Given the description of an element on the screen output the (x, y) to click on. 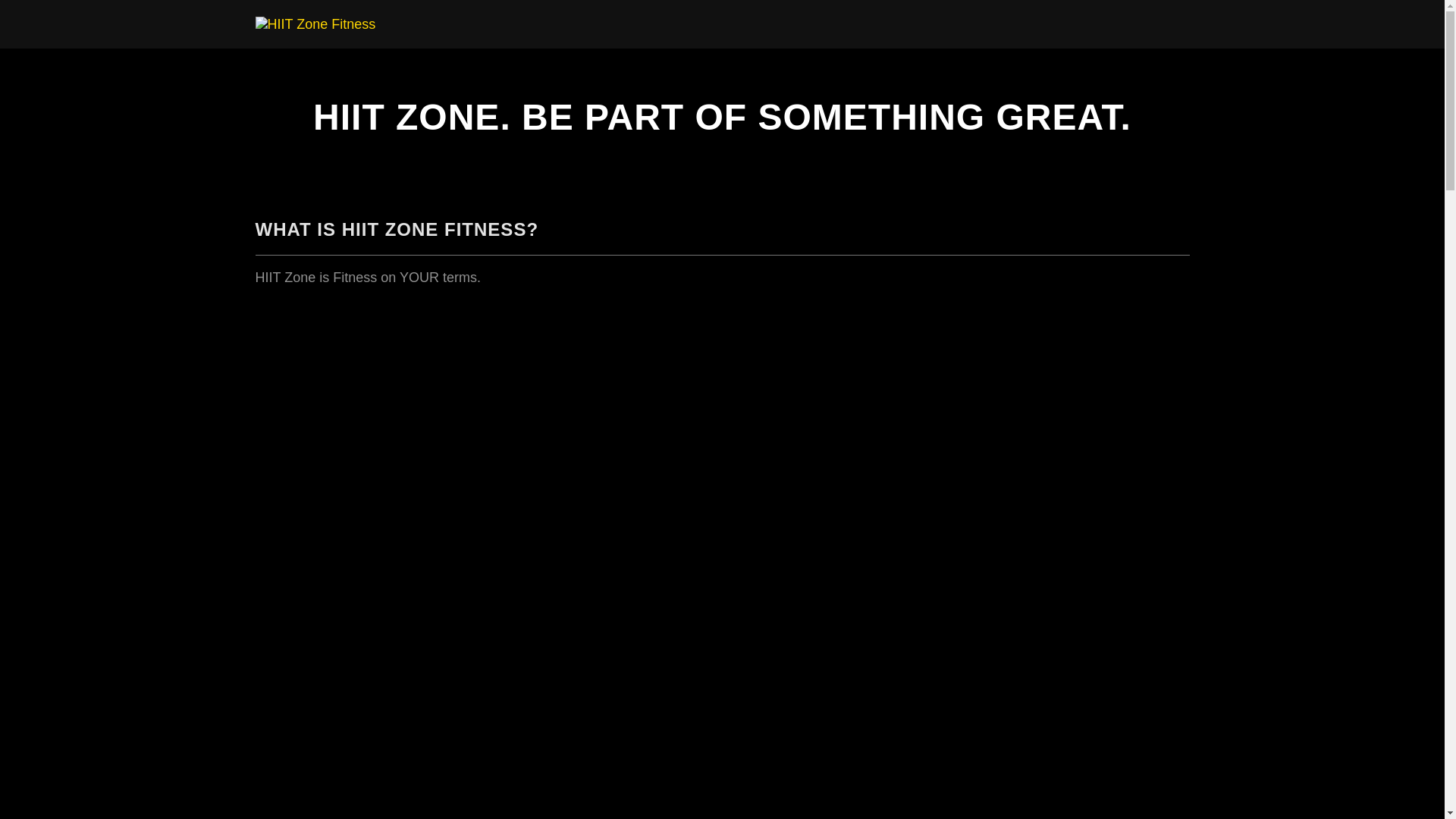
HIIT Zone Fitness Element type: hover (314, 23)
